Given the description of an element on the screen output the (x, y) to click on. 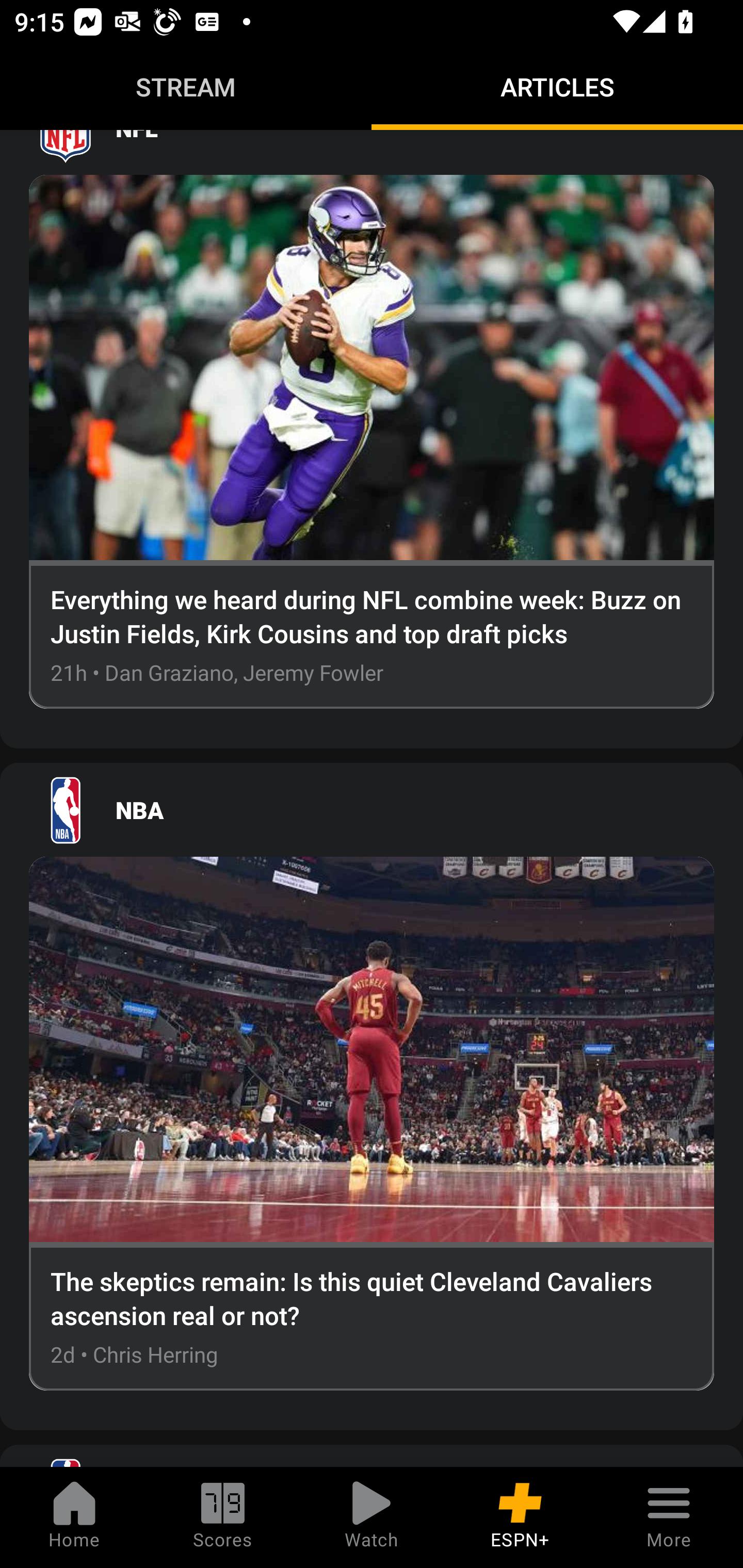
Stream STREAM (185, 86)
Home (74, 1517)
Scores (222, 1517)
Watch (371, 1517)
More (668, 1517)
